Given the description of an element on the screen output the (x, y) to click on. 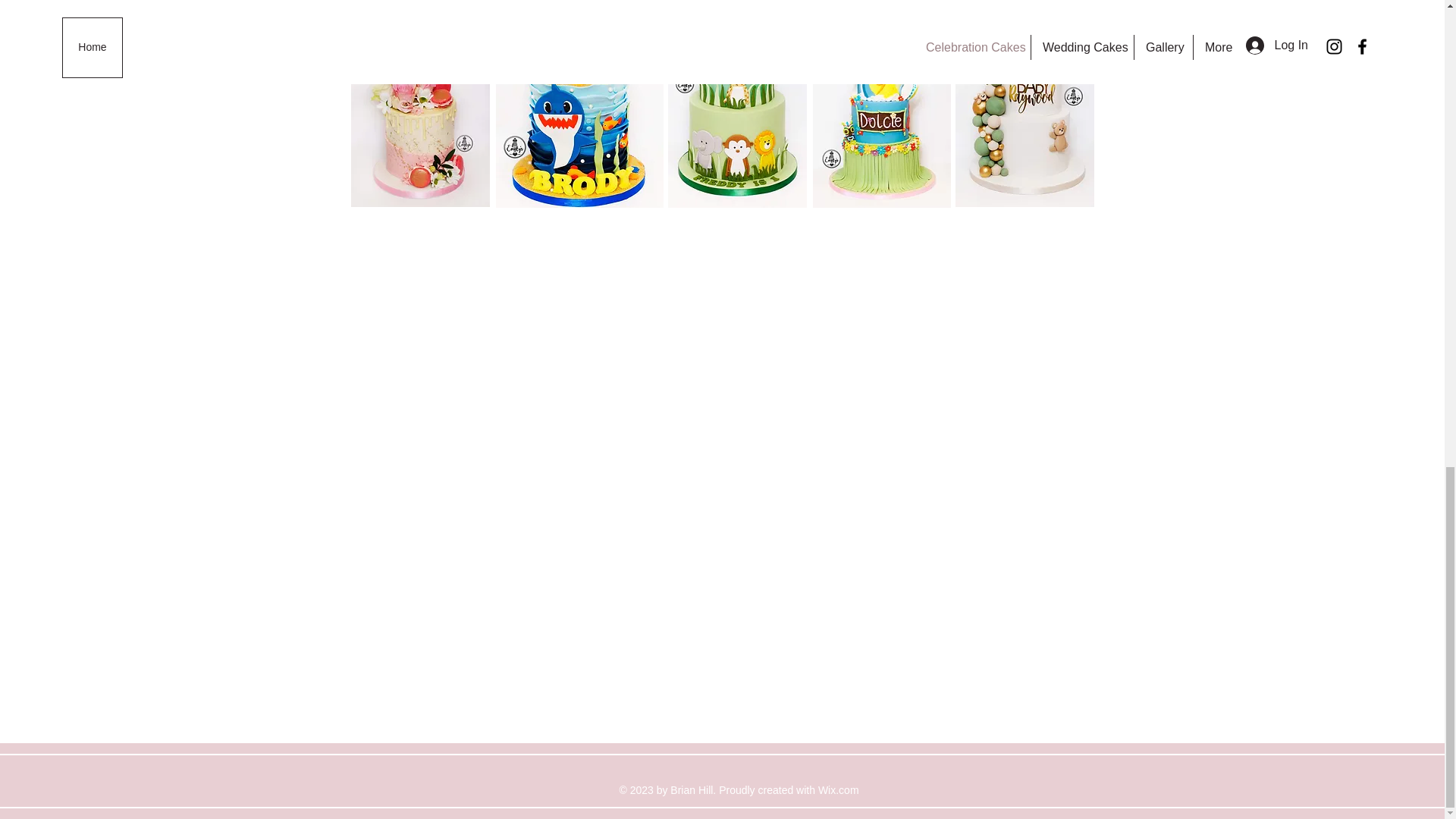
Wix.com (838, 789)
